Given the description of an element on the screen output the (x, y) to click on. 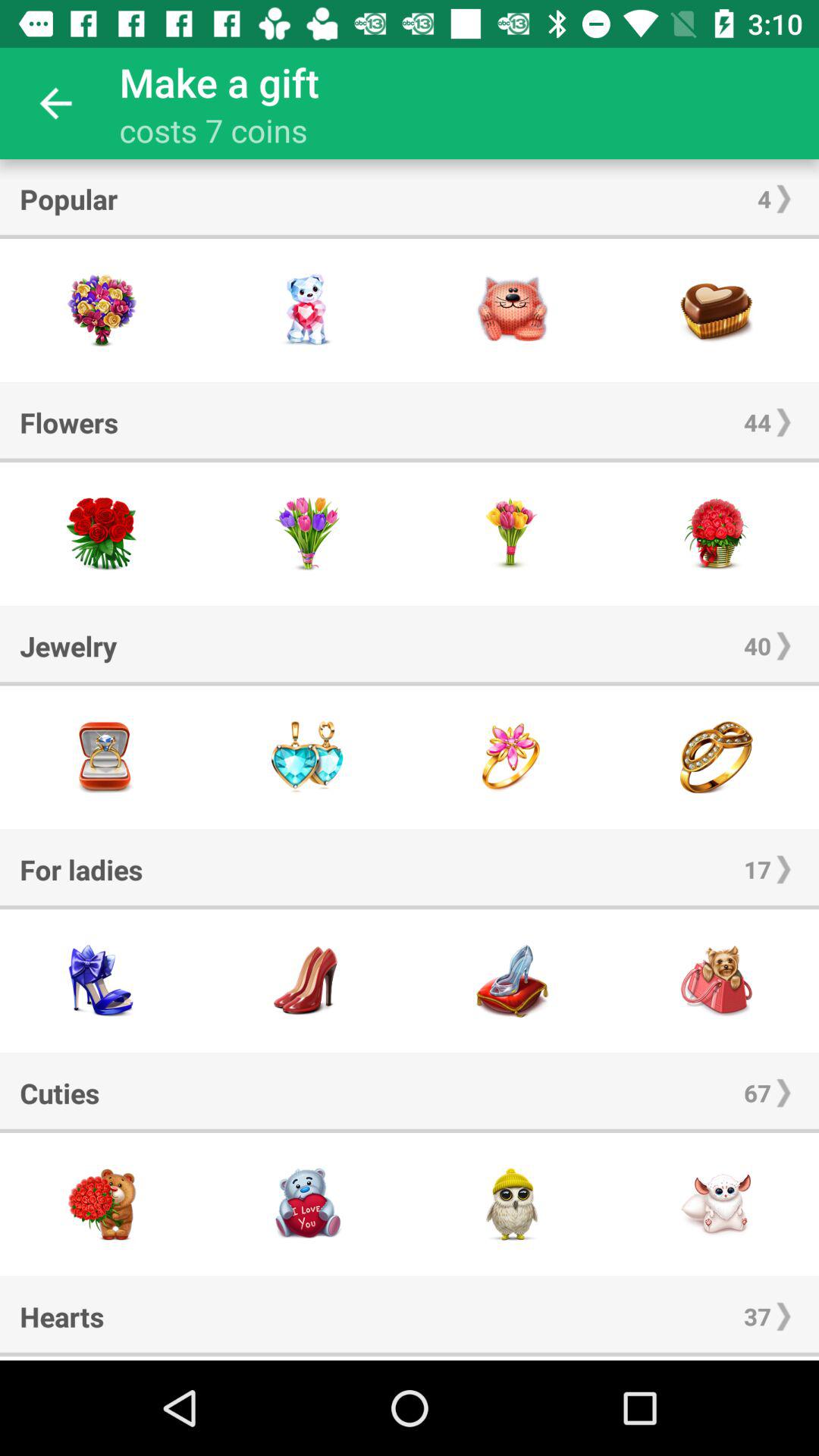
ladies zone (511, 980)
